Given the description of an element on the screen output the (x, y) to click on. 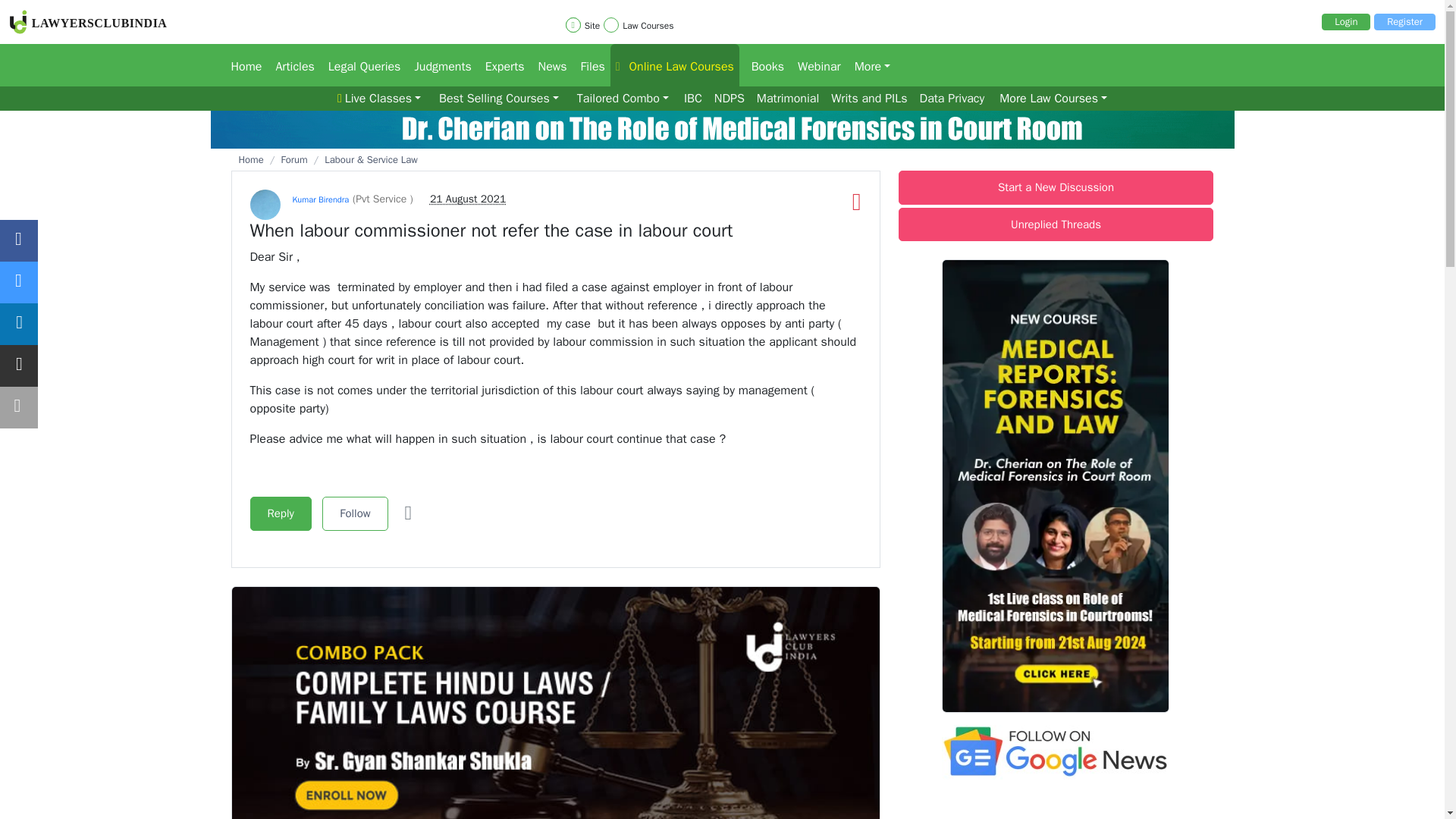
Experts (499, 65)
Best Selling Courses (498, 98)
Books (762, 65)
Judgments (436, 65)
Judgments (436, 65)
Share Files (589, 65)
Live Classes (378, 98)
Login (1346, 21)
More (867, 65)
Legal Queries (359, 65)
